Given the description of an element on the screen output the (x, y) to click on. 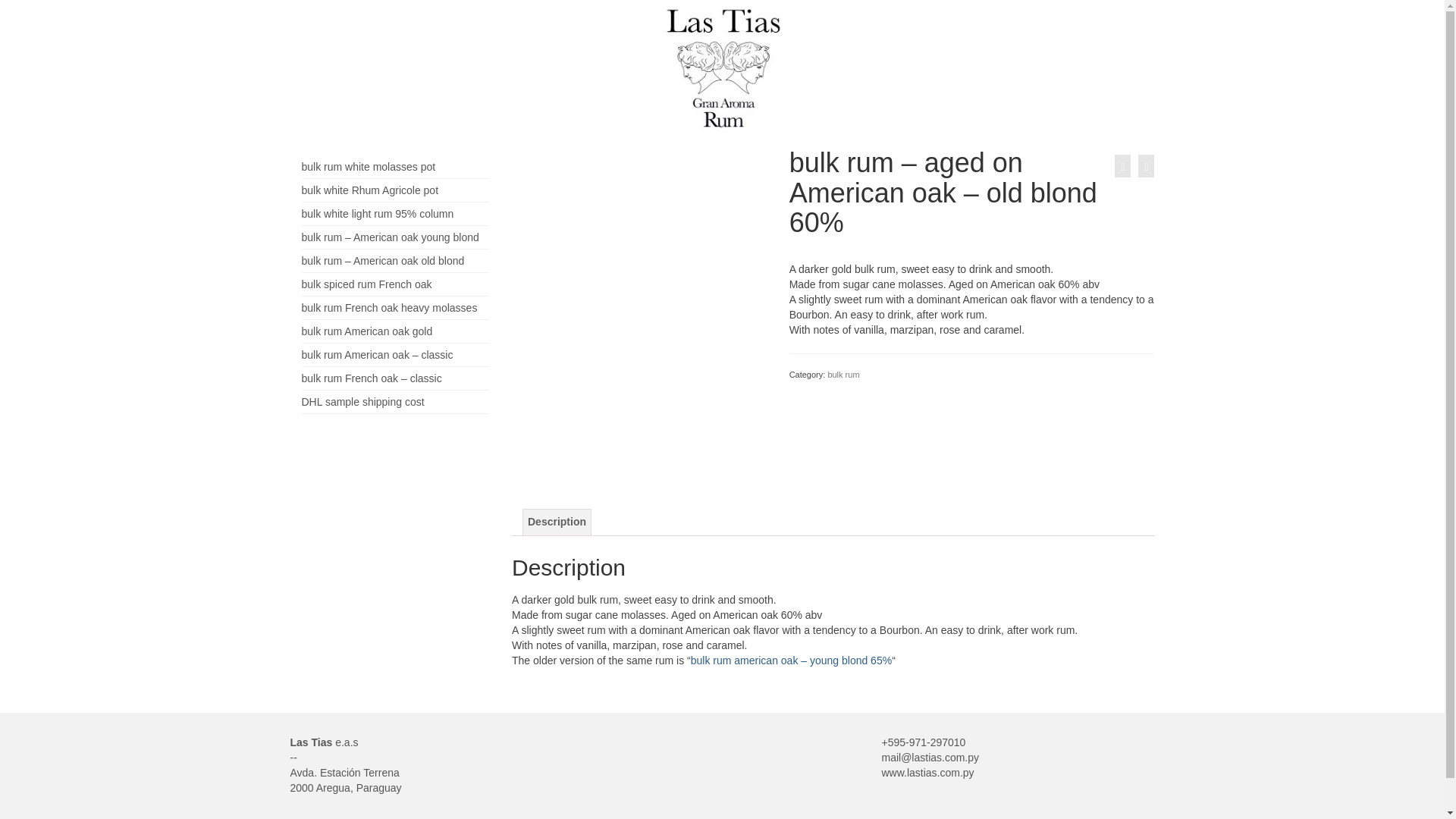
bulk white Rhum Agricole pot (370, 190)
bulk spiced rum French oak (366, 284)
www.lastias.com.py (927, 772)
Description (556, 522)
DHL sample shipping cost (363, 401)
bulk rum (843, 374)
bulk rum American oak gold (366, 331)
bulk rum white molasses pot (368, 166)
bulk rum French oak heavy molasses (389, 307)
